Given the description of an element on the screen output the (x, y) to click on. 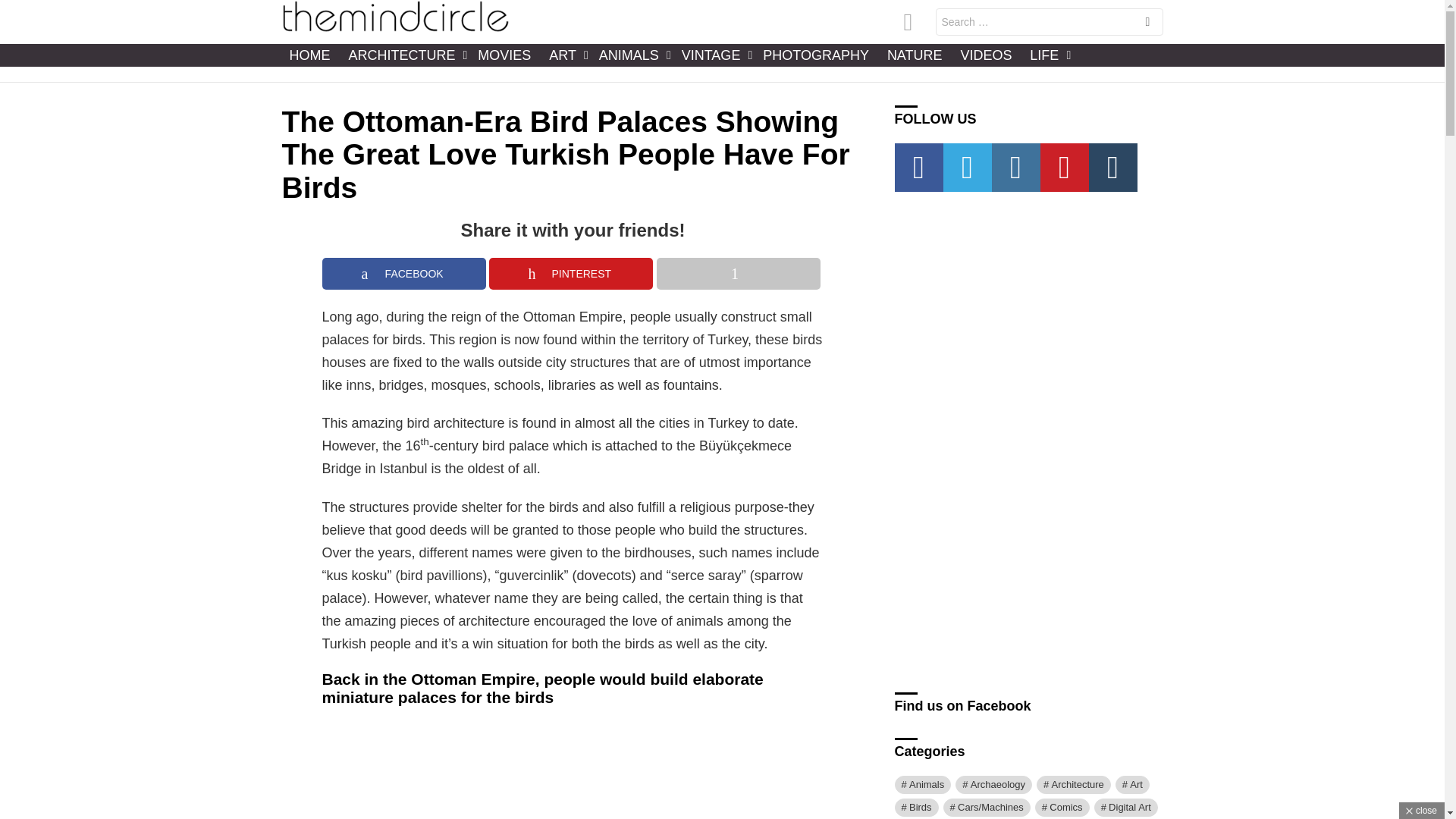
PINTEREST (570, 273)
PHOTOGRAPHY (815, 55)
Share on More Button (738, 273)
VINTAGE (713, 55)
ANIMALS (631, 55)
VIDEOS (985, 55)
NATURE (914, 55)
Share on Facebook (403, 273)
SEARCH (1146, 23)
FACEBOOK (403, 273)
Search for: (1049, 22)
ARCHITECTURE (403, 55)
ART (564, 55)
MOVIES (504, 55)
LIFE (1046, 55)
